Given the description of an element on the screen output the (x, y) to click on. 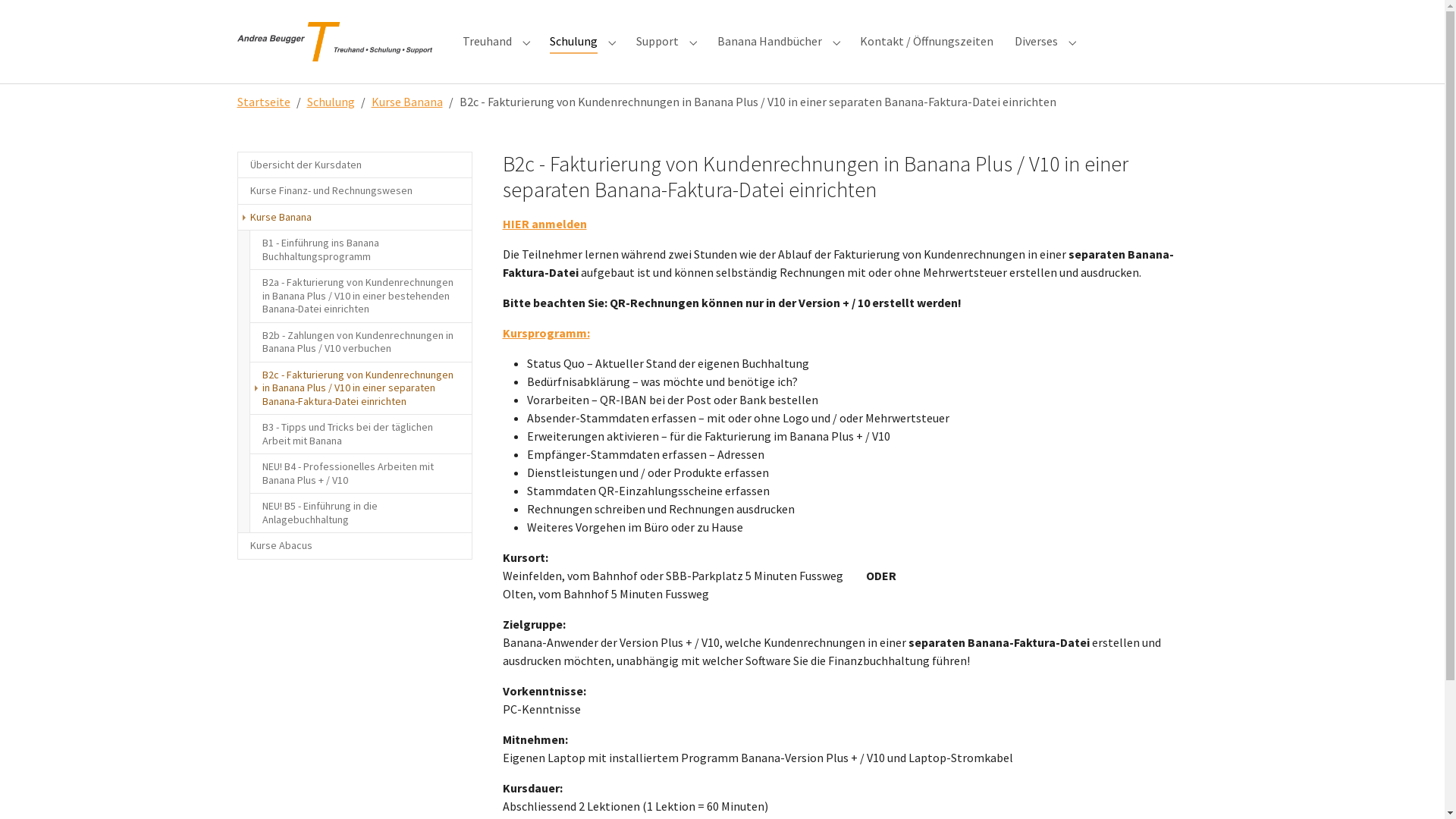
Kurse Finanz- und Rechnungswesen Element type: text (353, 190)
Submenu for "Support" Element type: text (693, 41)
Support Element type: text (657, 41)
Treuhand Element type: text (486, 41)
NEU! B4 - Professionelles Arbeiten mit Banana Plus + / V10 Element type: text (359, 473)
Schulung Element type: text (330, 101)
Startseite Element type: text (262, 101)
Submenu for "Diverses" Element type: text (1072, 41)
Kurse Banana Element type: text (353, 217)
Kurse Abacus Element type: text (353, 545)
Diverses Element type: text (1035, 41)
Schulung Element type: text (573, 41)
Submenu for "Treuhand" Element type: text (526, 41)
Kursprogramm: Element type: text (545, 332)
Kurse Banana Element type: text (406, 101)
HIER anmelden Element type: text (544, 223)
Submenu for "Schulung" Element type: text (612, 41)
